Given the description of an element on the screen output the (x, y) to click on. 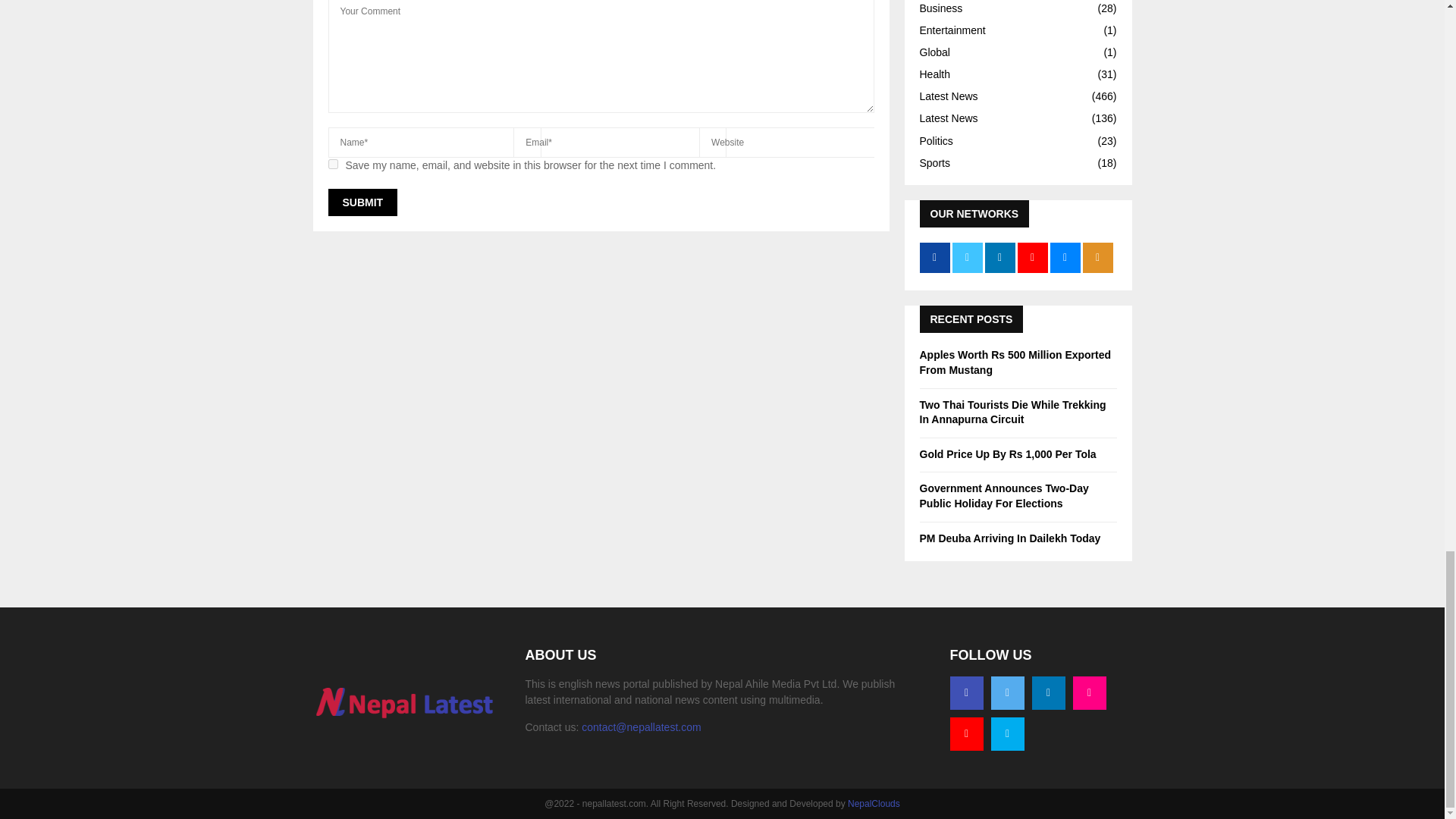
Submit (362, 202)
yes (332, 163)
